Given the description of an element on the screen output the (x, y) to click on. 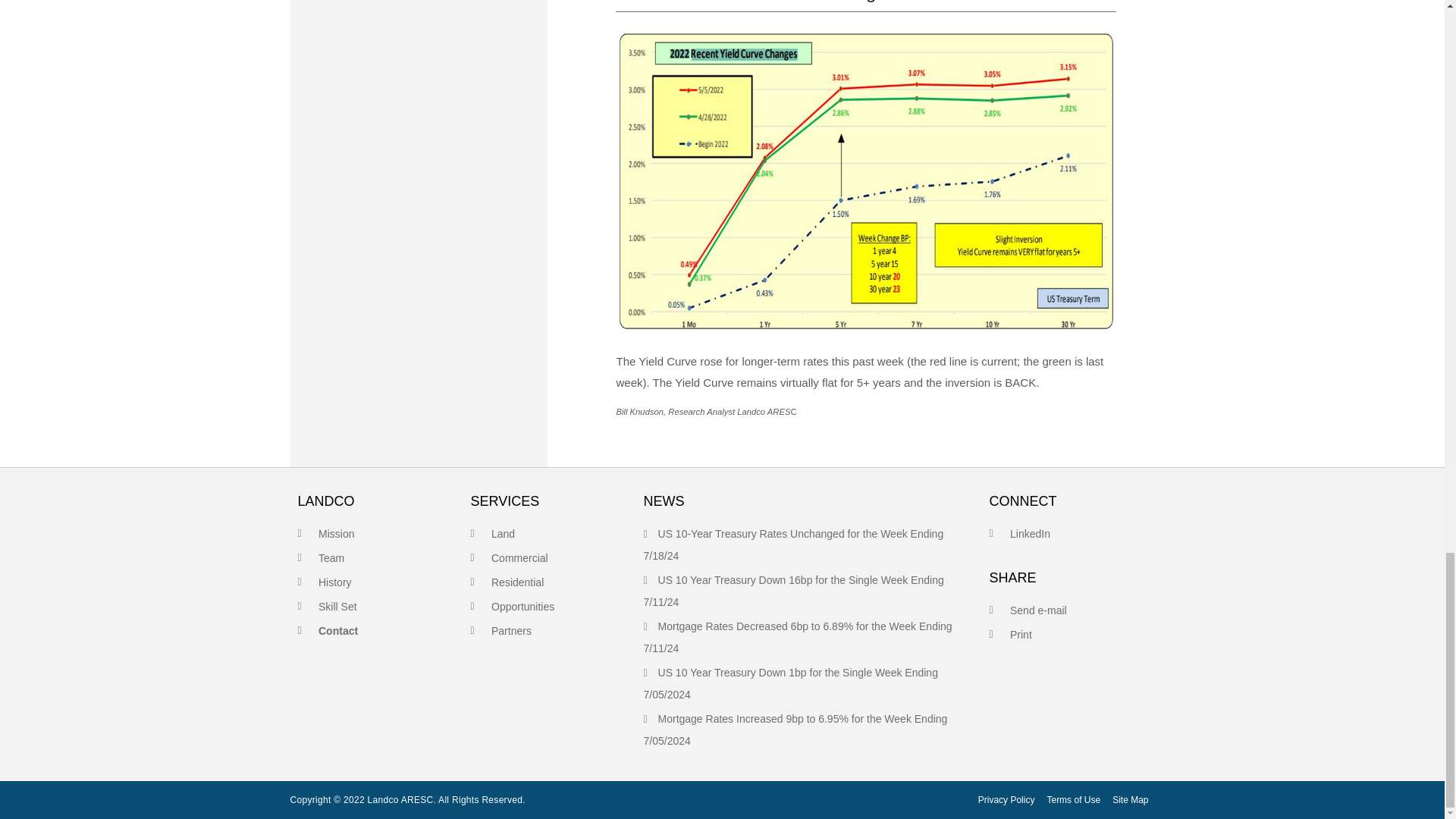
Print (1021, 634)
